Given the description of an element on the screen output the (x, y) to click on. 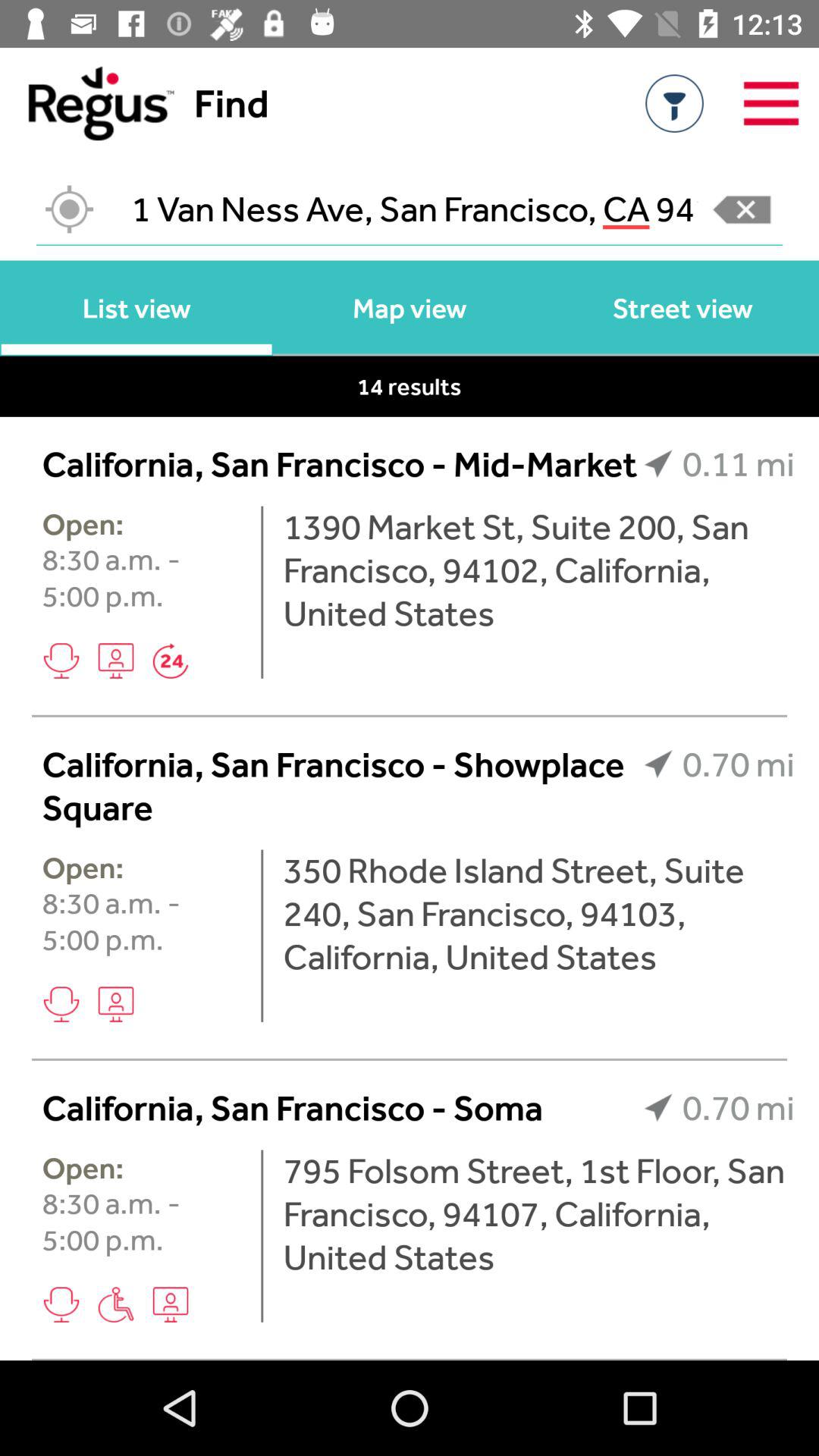
press 350 rhode island (538, 913)
